Given the description of an element on the screen output the (x, y) to click on. 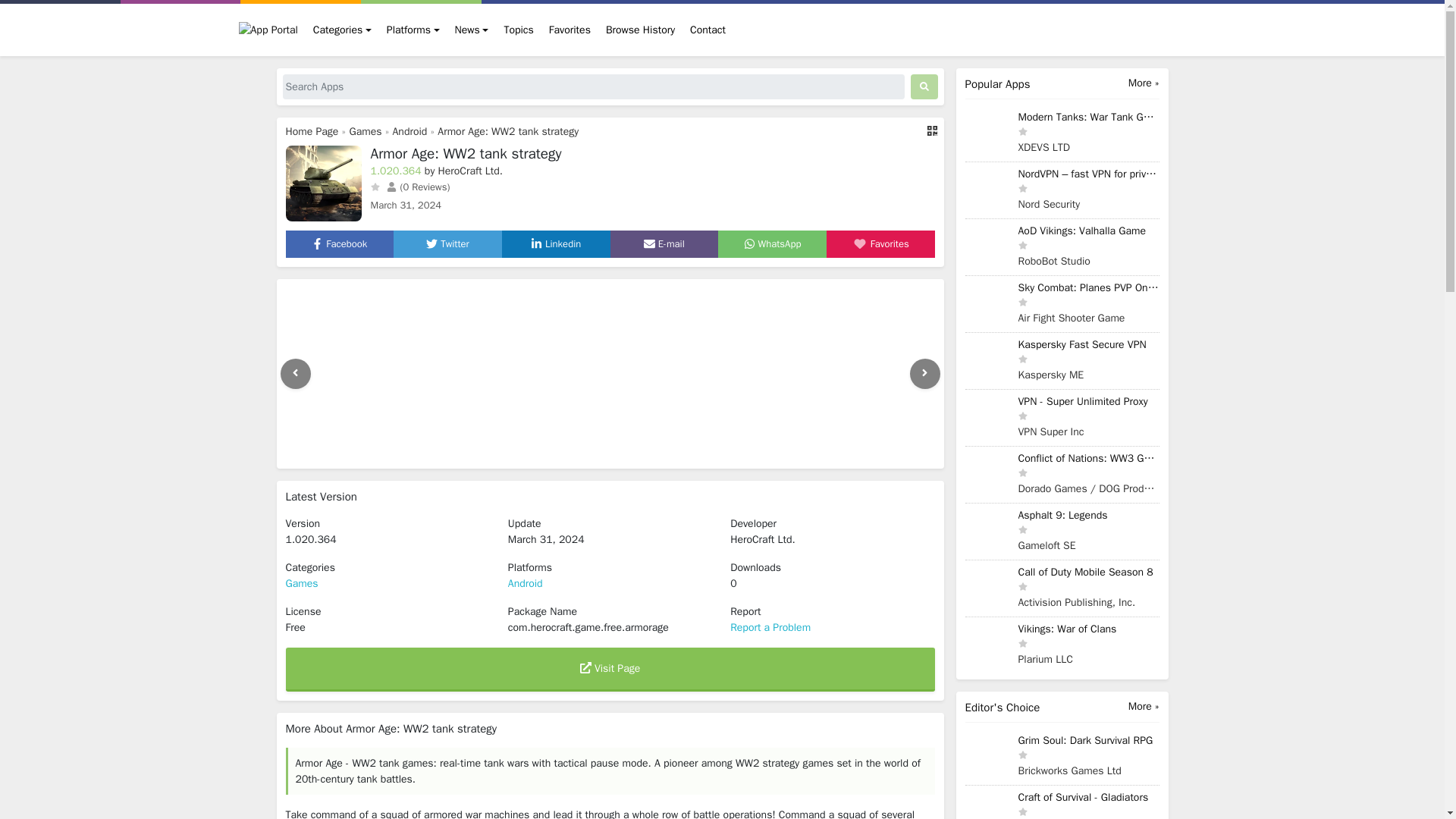
Armor Age: WW2 tank strategy (508, 131)
Linkedin (555, 243)
Home Page (311, 131)
Favorites (569, 29)
Contact (708, 29)
Categories (342, 29)
Games (365, 131)
Browse History (640, 29)
Platforms (412, 29)
Topics (517, 29)
